Given the description of an element on the screen output the (x, y) to click on. 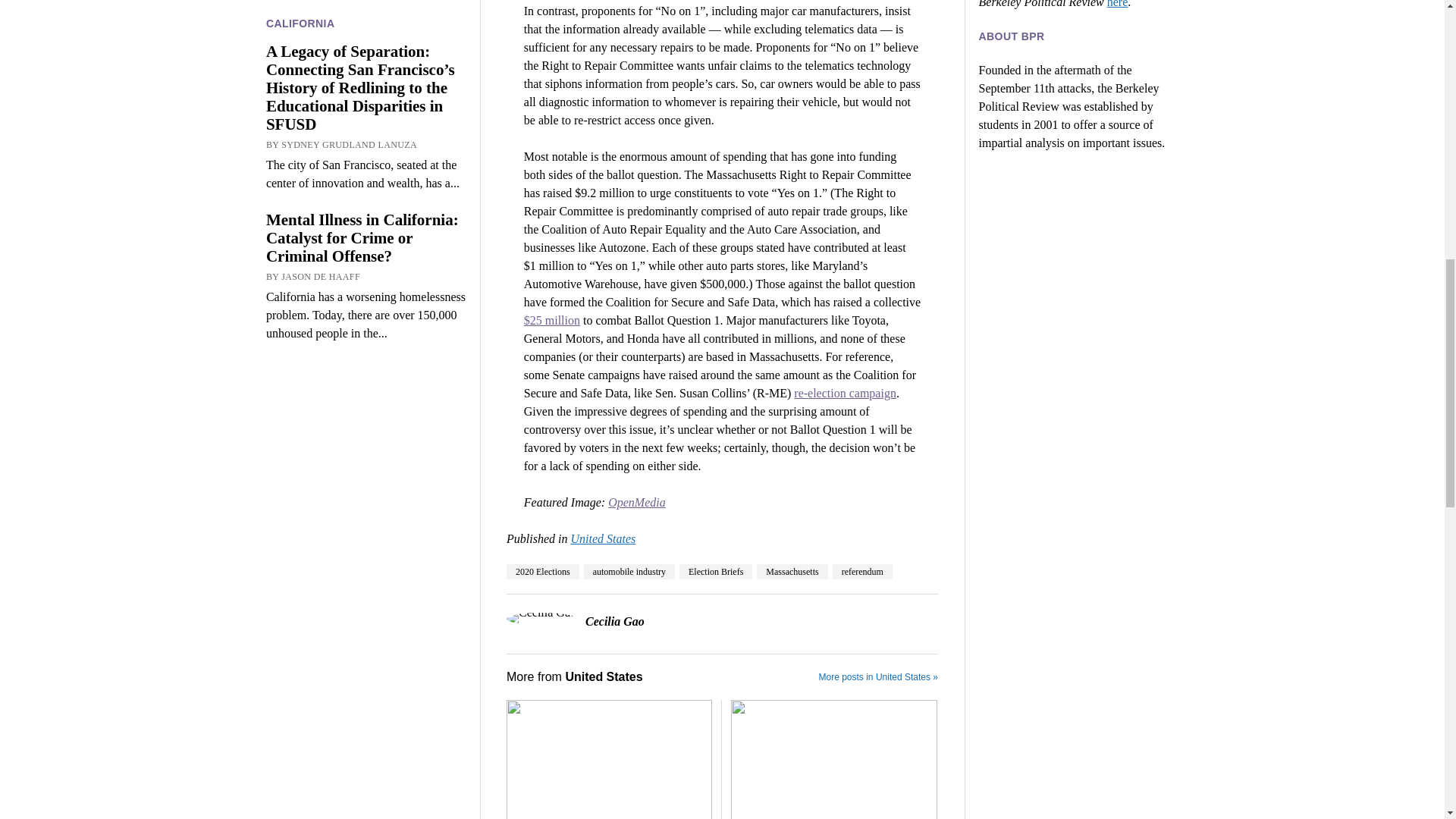
View all posts tagged Massachusetts (792, 571)
Election Briefs (715, 571)
re-election campaign (844, 392)
View all posts tagged 2020 Elections (542, 571)
Massachusetts (792, 571)
automobile industry (629, 571)
View all posts in United States (602, 538)
View all posts tagged Election Briefs (715, 571)
2020 Elections (542, 571)
United States (602, 538)
